Given the description of an element on the screen output the (x, y) to click on. 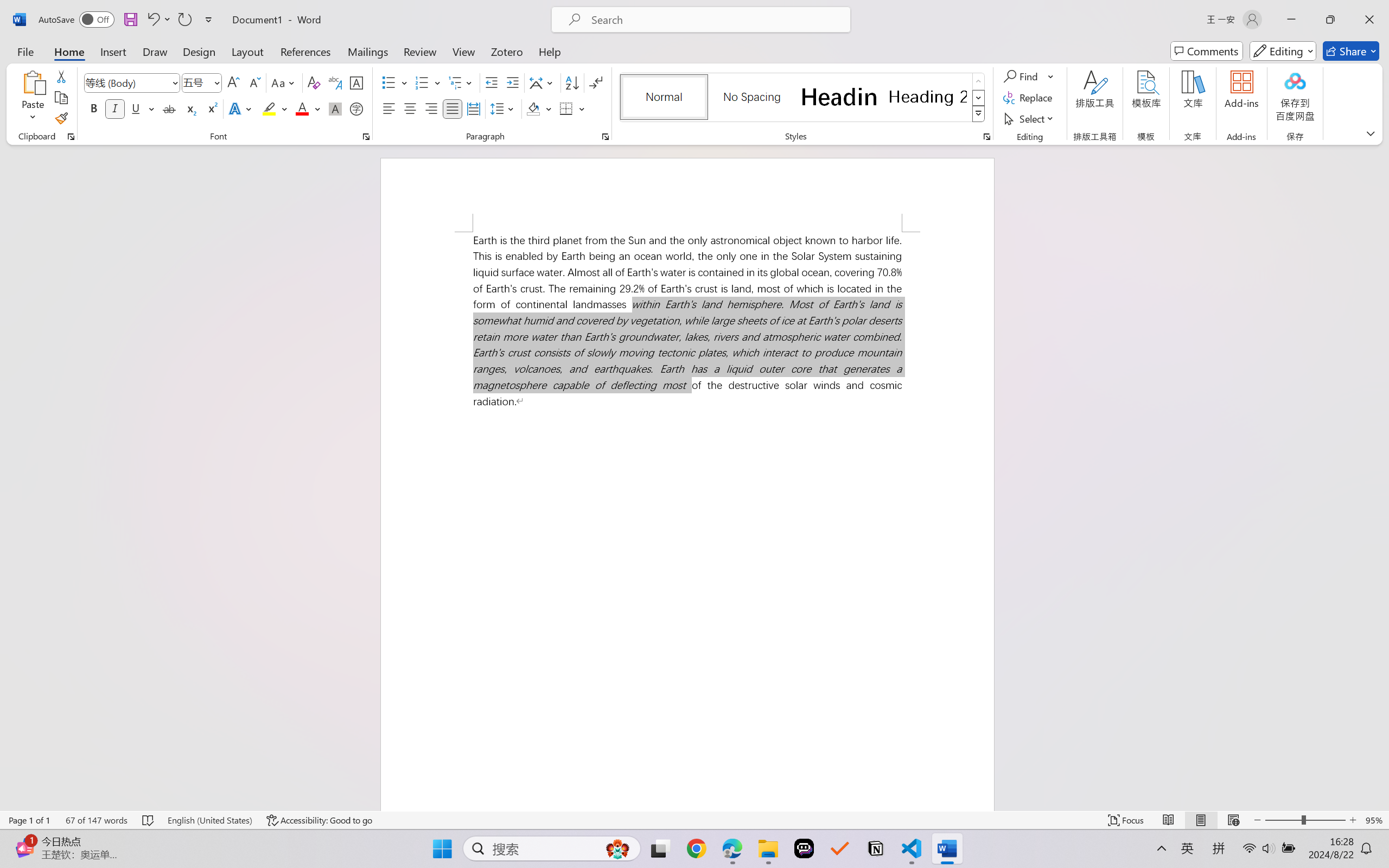
Customize Quick Access Toolbar (142, 9)
Close this message (1379, 105)
Zoom to Fit  (1382, 837)
Subtitle TextBox (1035, 723)
Ribbon Display Options (1300, 10)
Line down (1131, 753)
Quick Access Toolbar (79, 10)
Slide Sorter (1223, 837)
Save as Show (292, 62)
